Given the description of an element on the screen output the (x, y) to click on. 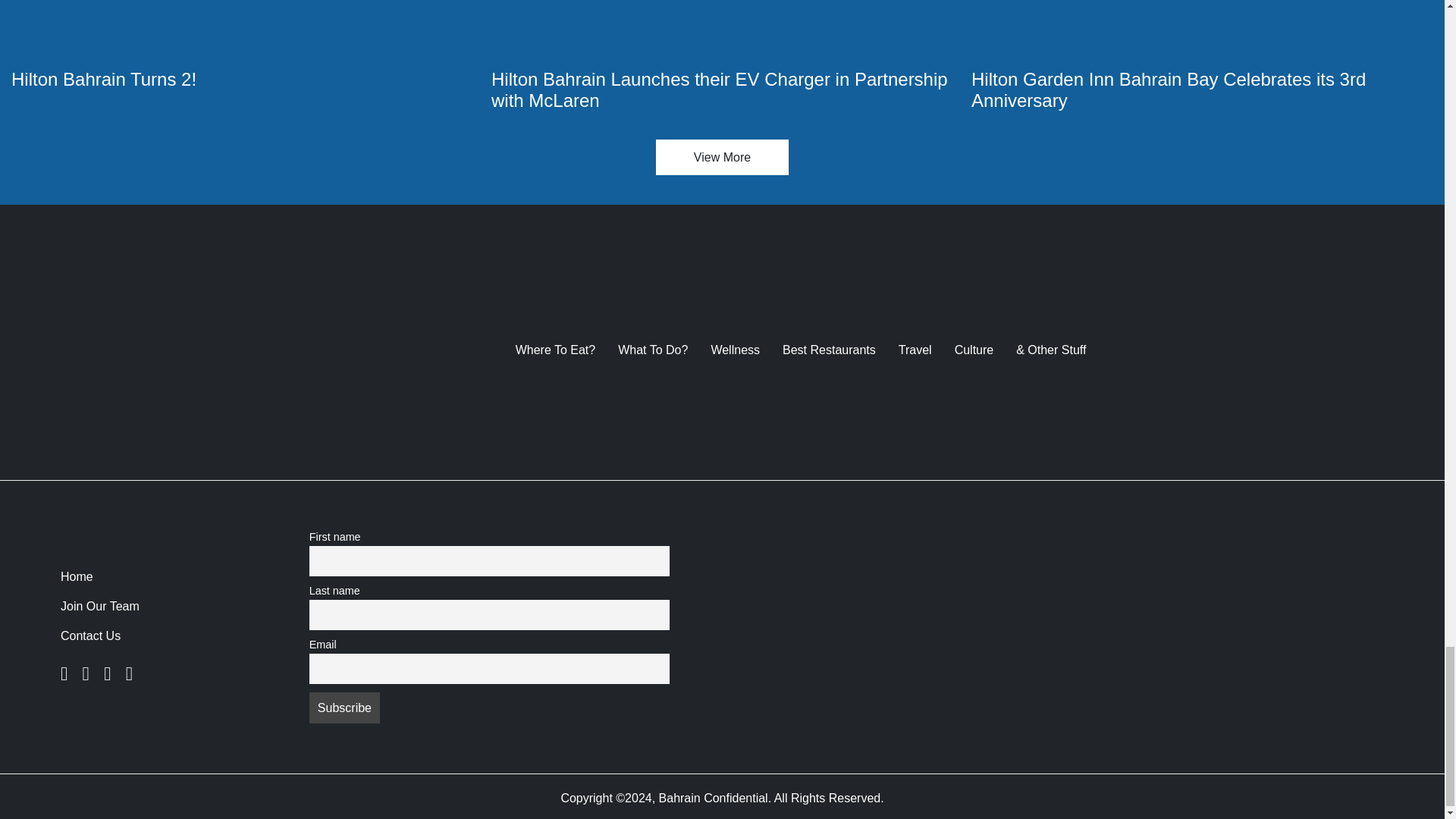
Subscribe (344, 707)
